Given the description of an element on the screen output the (x, y) to click on. 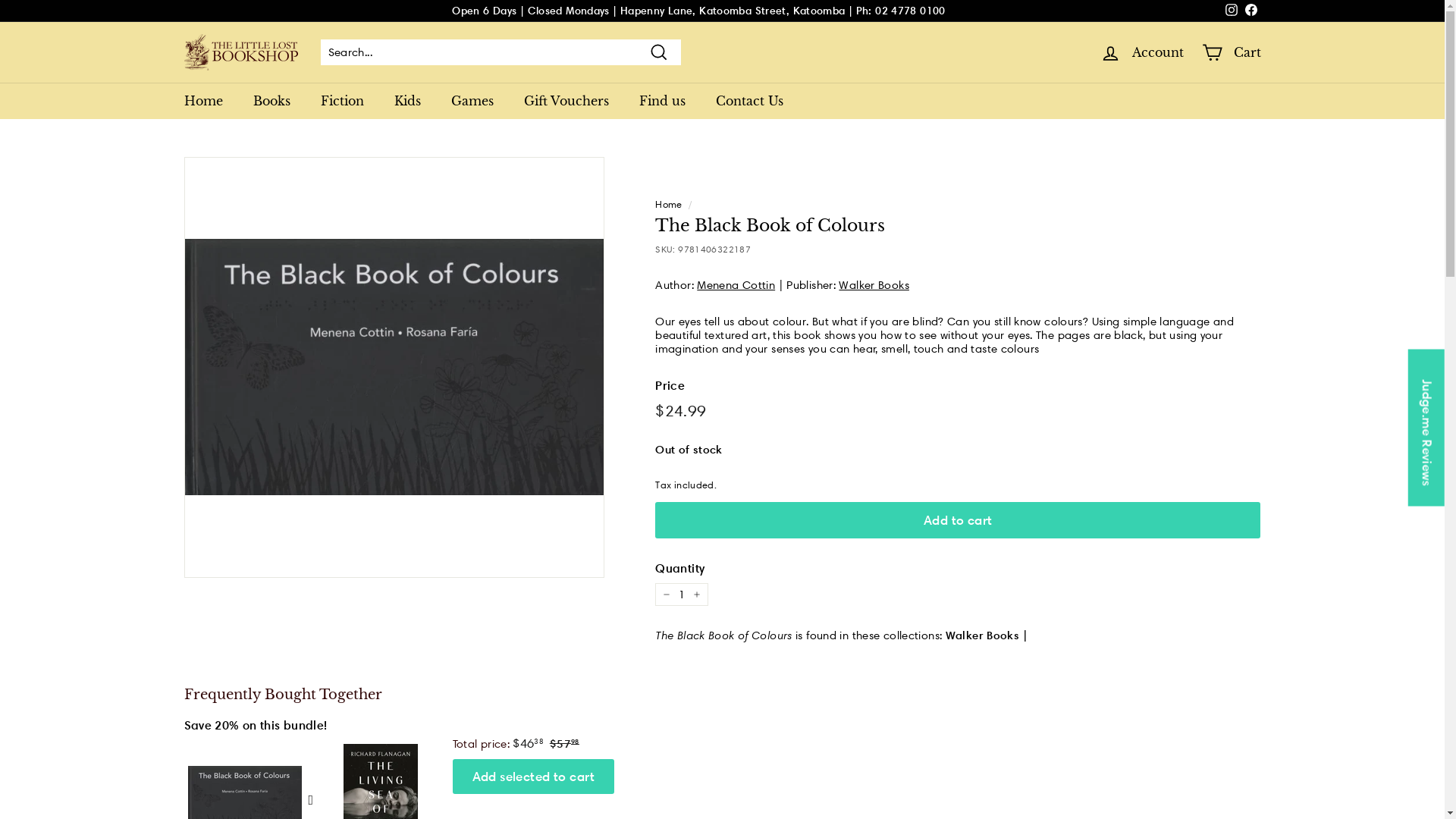
+ Element type: text (696, 594)
Fiction Element type: text (341, 100)
Home Element type: text (202, 100)
Home Element type: text (668, 203)
Contact Us Element type: text (749, 100)
Account Element type: text (1141, 52)
Add to cart Element type: text (957, 520)
Skip to content Element type: text (0, 0)
Facebook Element type: text (1250, 10)
Add selected to cart Element type: text (532, 776)
Walker Books | Element type: text (986, 634)
Instagram Element type: text (1230, 10)
Books Element type: text (271, 100)
Kids Element type: text (407, 100)
Games Element type: text (471, 100)
Menena Cottin Element type: text (735, 284)
Find us Element type: text (661, 100)
Walker Books Element type: text (873, 284)
Gift Vouchers Element type: text (565, 100)
